Given the description of an element on the screen output the (x, y) to click on. 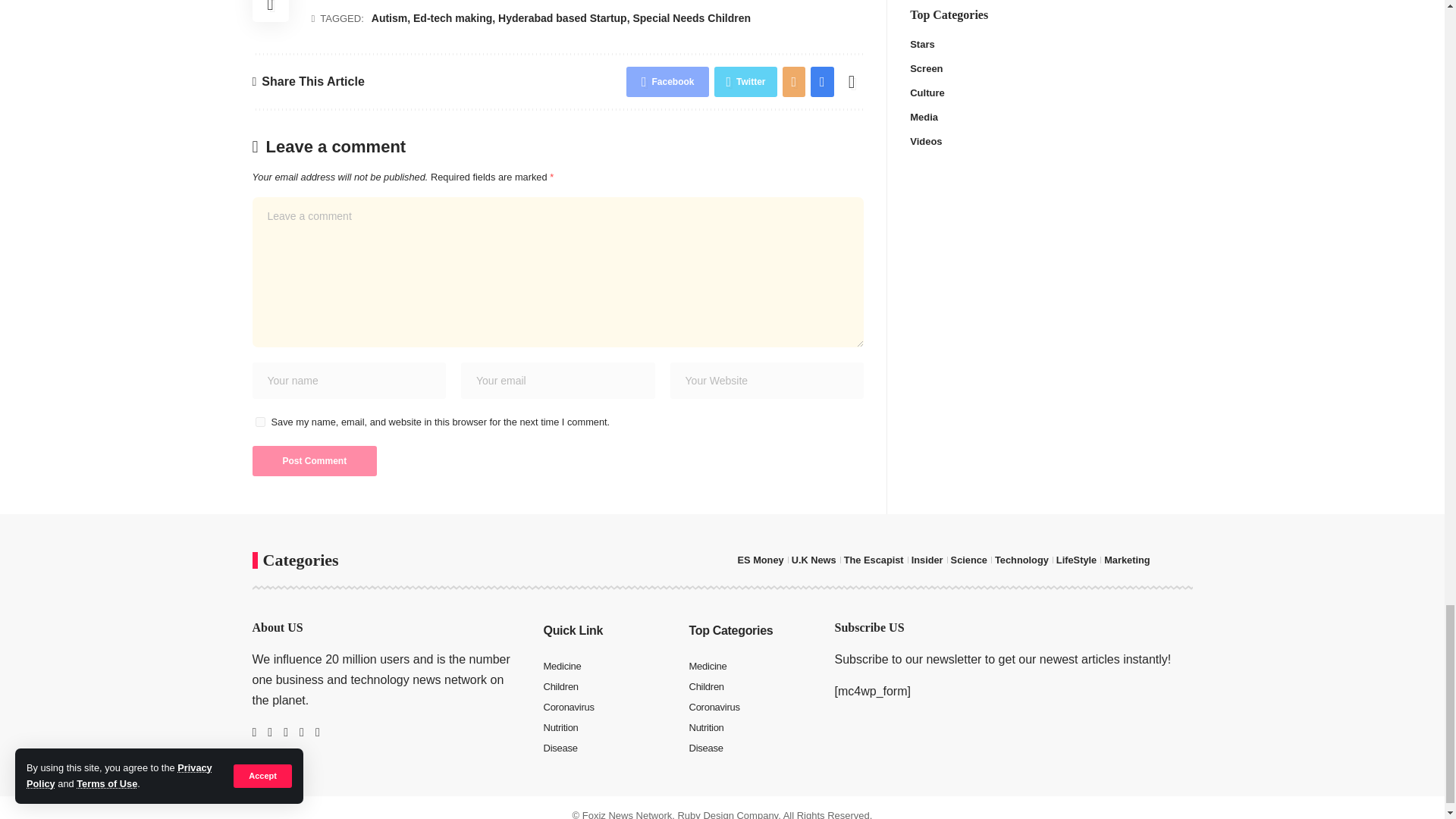
yes (259, 421)
Post Comment (314, 460)
